Given the description of an element on the screen output the (x, y) to click on. 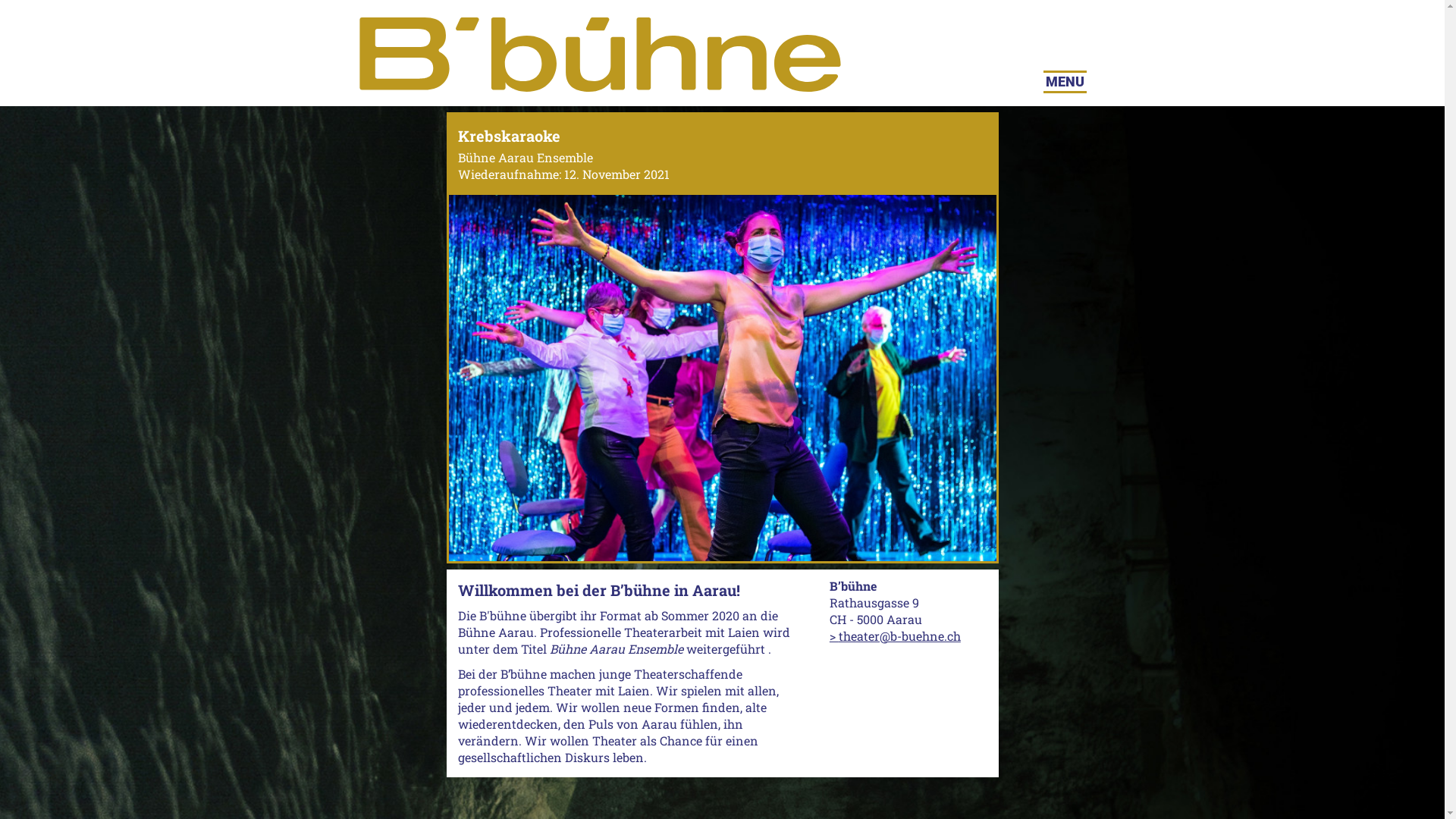
theater@b-buehne.ch Element type: text (894, 635)
MENU Element type: text (1064, 81)
